Given the description of an element on the screen output the (x, y) to click on. 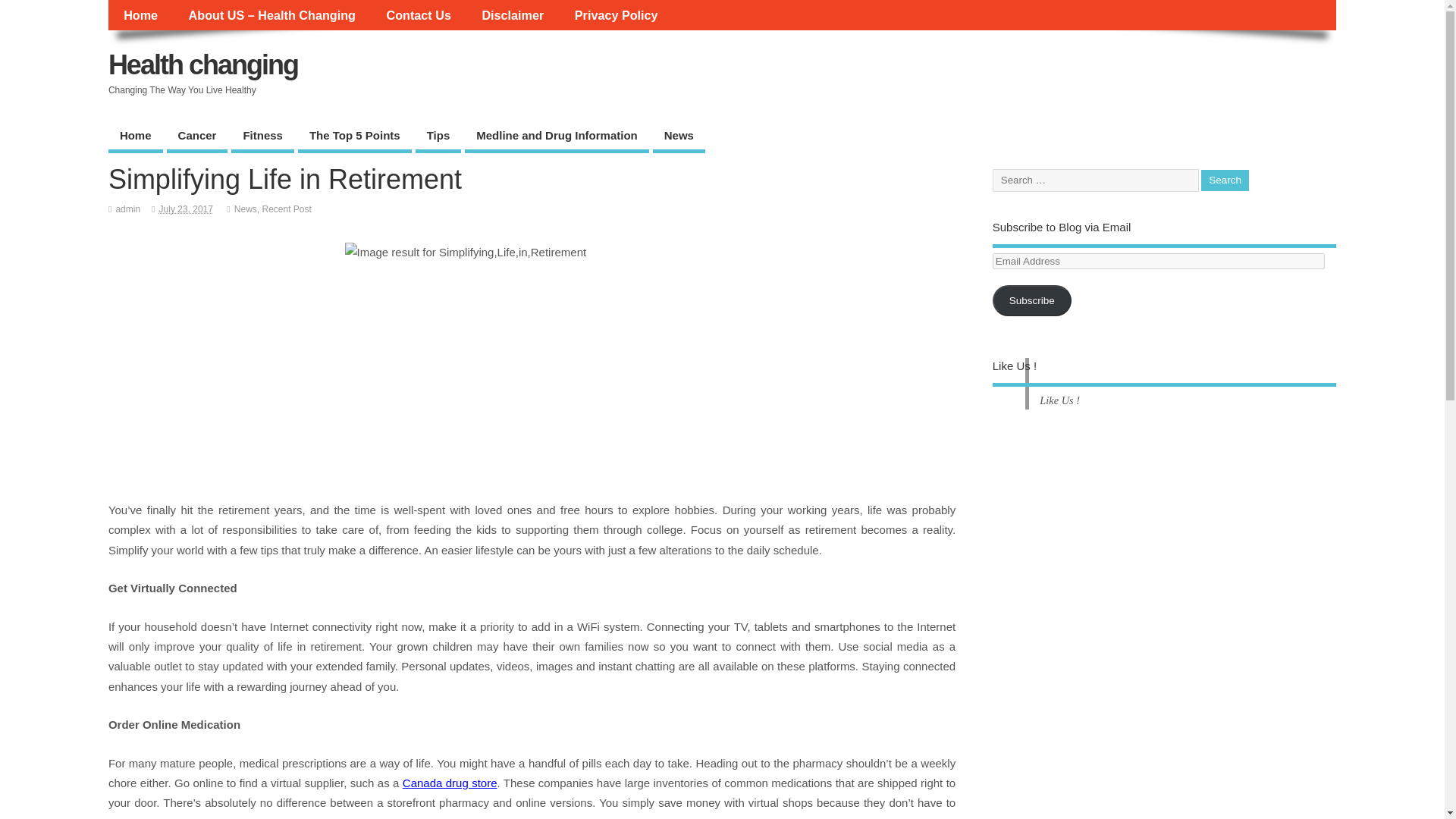
Contact Us (418, 15)
Posts by admin (127, 208)
Health changing (202, 64)
Search for: (1095, 179)
Search (1225, 180)
Disclaimer (512, 15)
Health changing (202, 64)
Search (1225, 180)
Tips (437, 136)
Recent Post (286, 208)
The Top 5 Points (355, 136)
Home (140, 15)
News (678, 136)
Home (135, 136)
admin (127, 208)
